Given the description of an element on the screen output the (x, y) to click on. 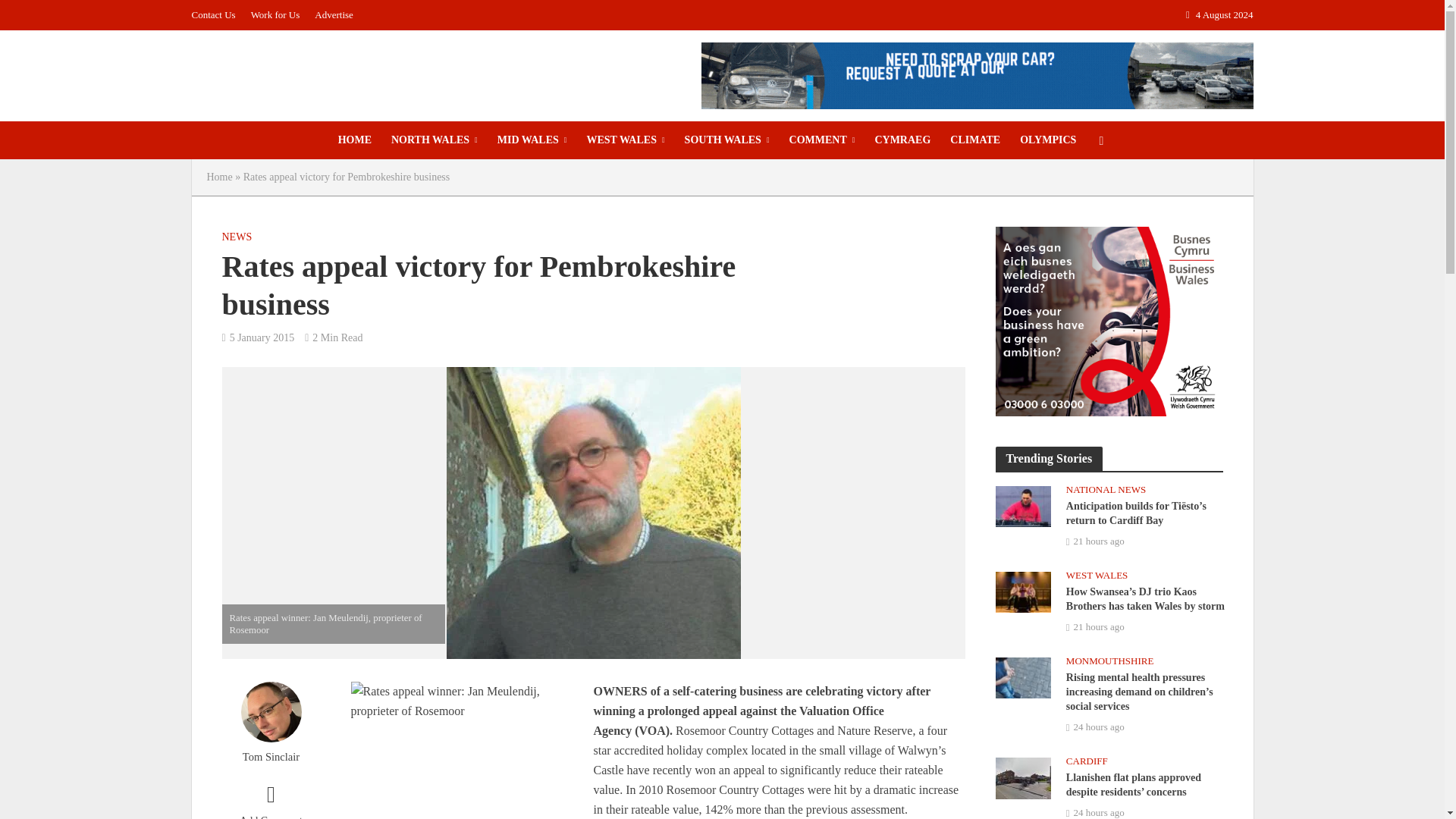
NORTH WALES (434, 139)
Work for Us (275, 15)
Advertise (334, 15)
WEST WALES (625, 139)
MID WALES (531, 139)
COMMENT (821, 139)
Contact Us (216, 15)
CLIMATE (975, 139)
HOME (355, 139)
OLYMPICS (1048, 139)
